Given the description of an element on the screen output the (x, y) to click on. 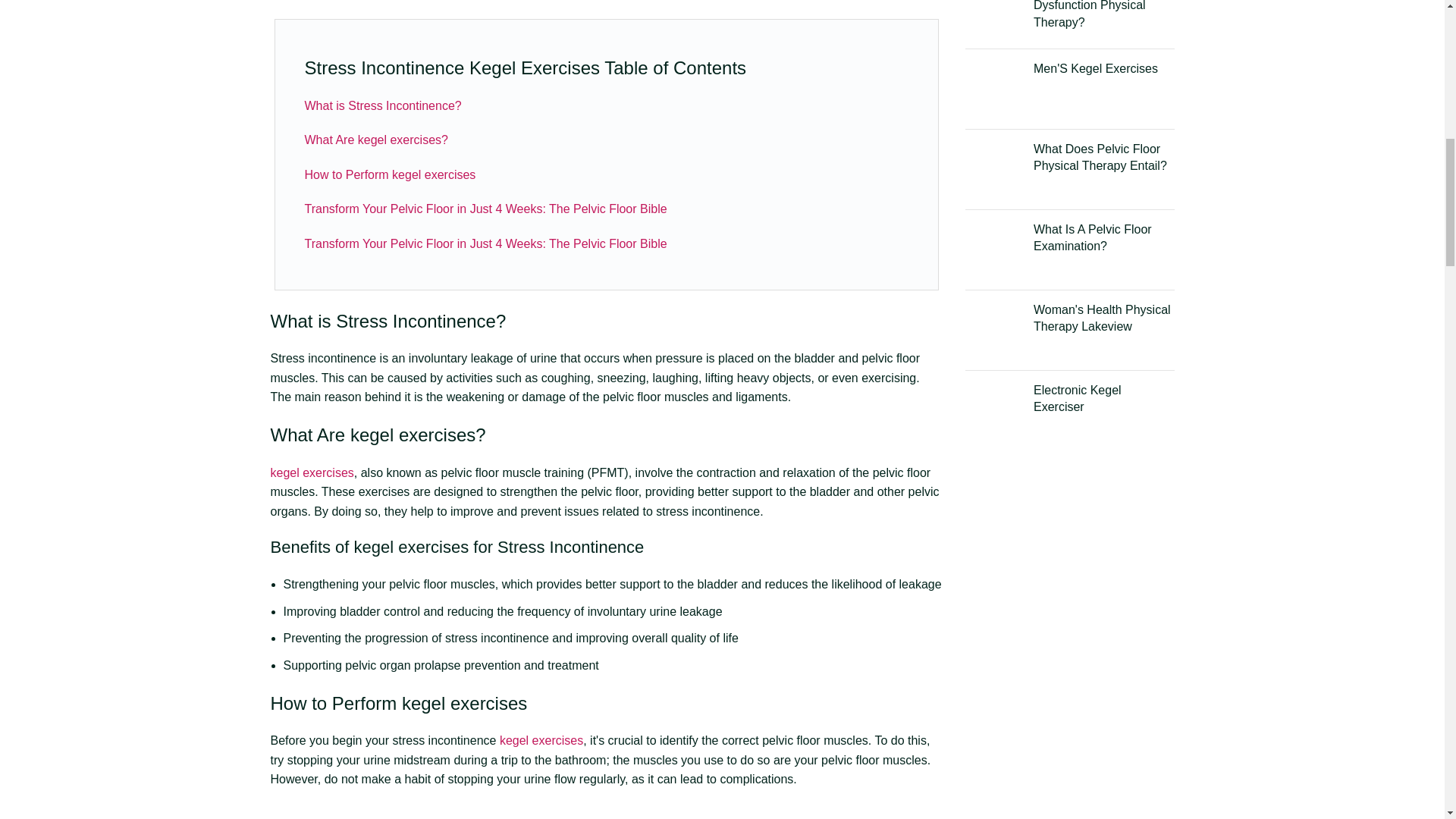
kegel exercises (410, 546)
What is Stress Incontinence? (382, 105)
kegel exercises (464, 702)
What Are kegel exercises? (376, 139)
kegel exercises (413, 435)
kegel exercises (541, 739)
How to Perform kegel exercises (390, 174)
kegel exercises (311, 472)
